Given the description of an element on the screen output the (x, y) to click on. 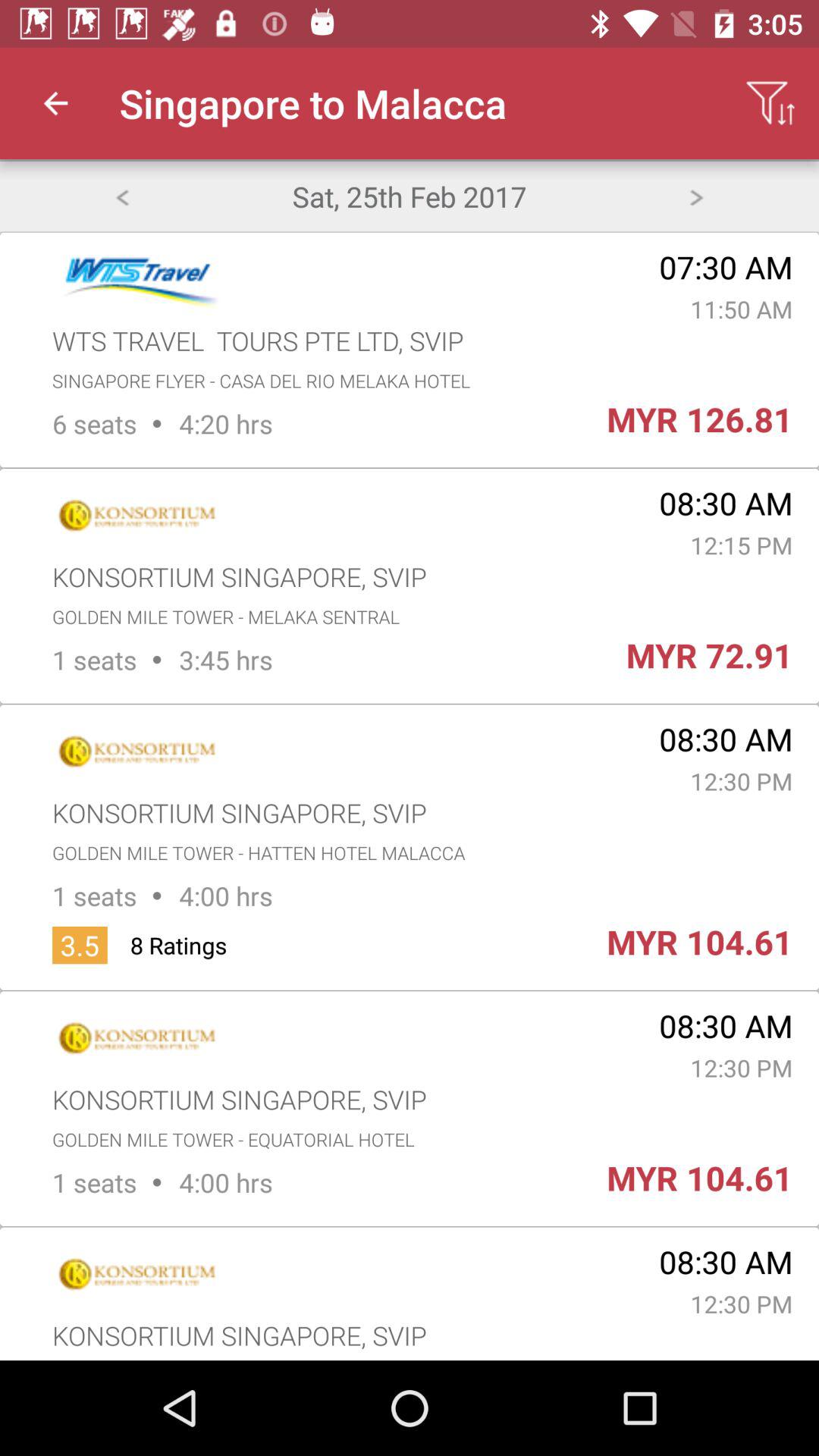
view next day (696, 196)
